Given the description of an element on the screen output the (x, y) to click on. 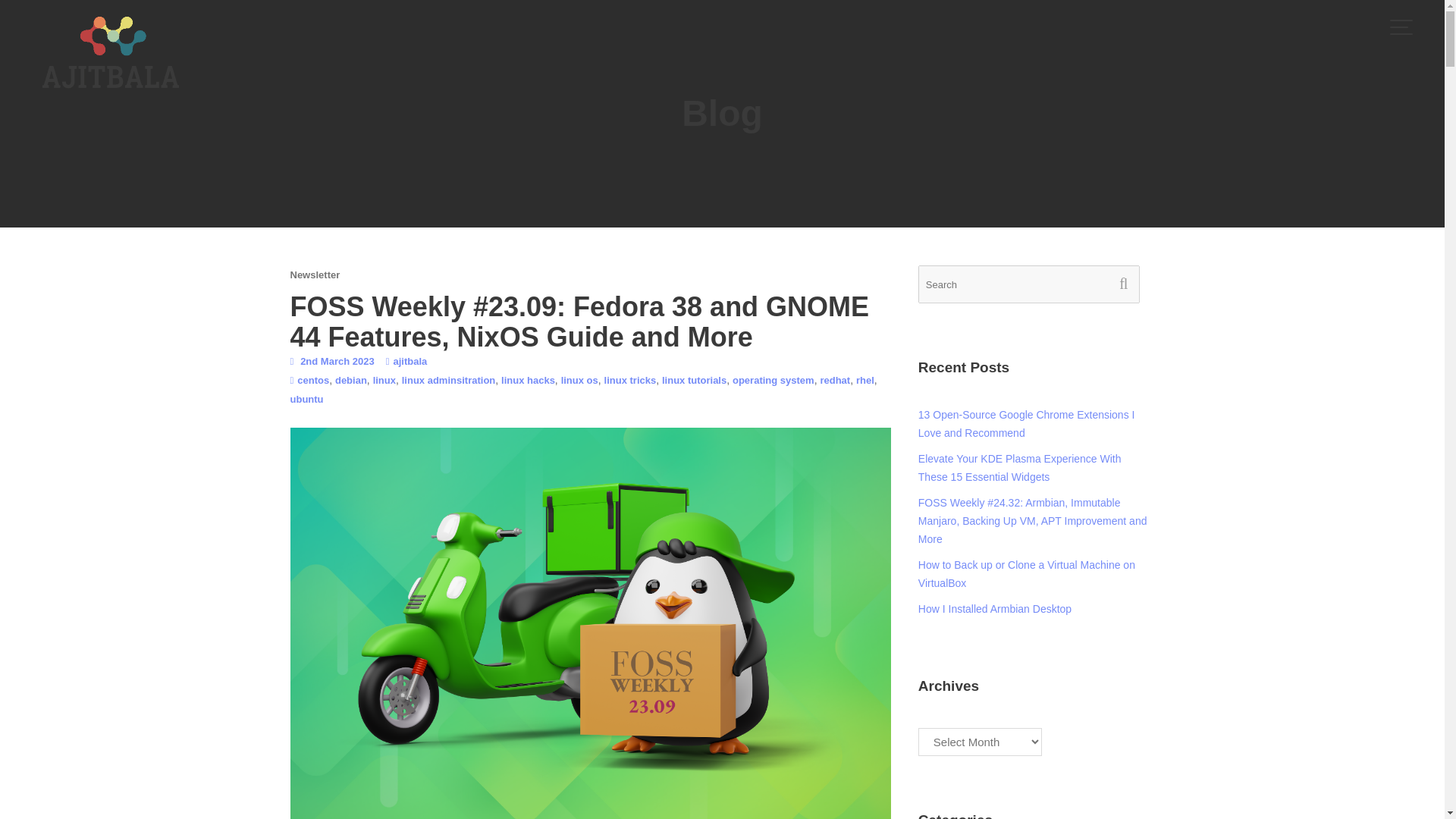
linux hacks (527, 379)
ubuntu (306, 398)
redhat (834, 379)
debian (350, 379)
rhel (865, 379)
How to Back up or Clone a Virtual Machine on VirtualBox (1026, 573)
ajitbala (409, 360)
linux adminsitration (448, 379)
linux tricks (630, 379)
2nd March 2023 (336, 360)
